Given the description of an element on the screen output the (x, y) to click on. 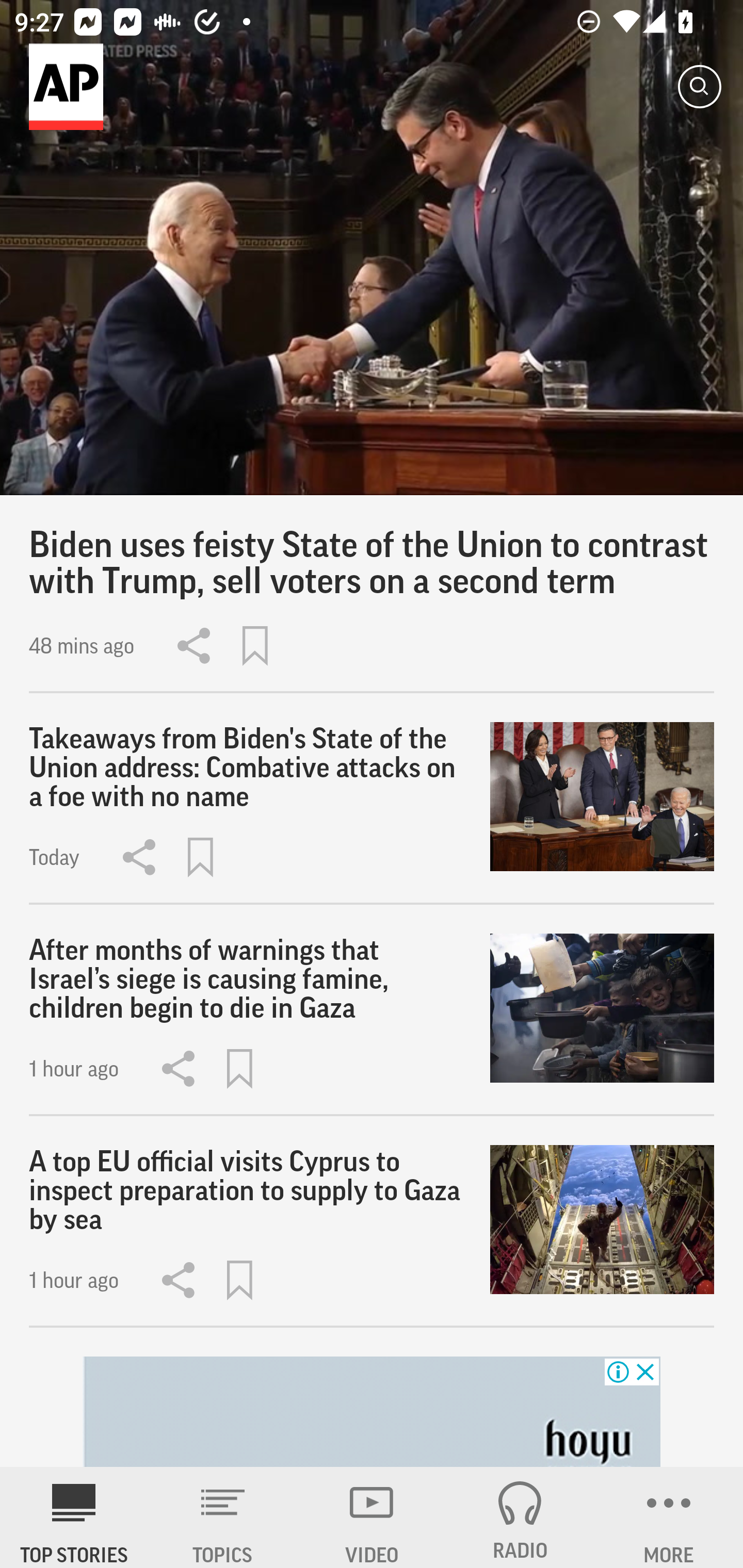
AP News TOP STORIES (74, 1517)
TOPICS (222, 1517)
VIDEO (371, 1517)
RADIO (519, 1517)
MORE (668, 1517)
